Given the description of an element on the screen output the (x, y) to click on. 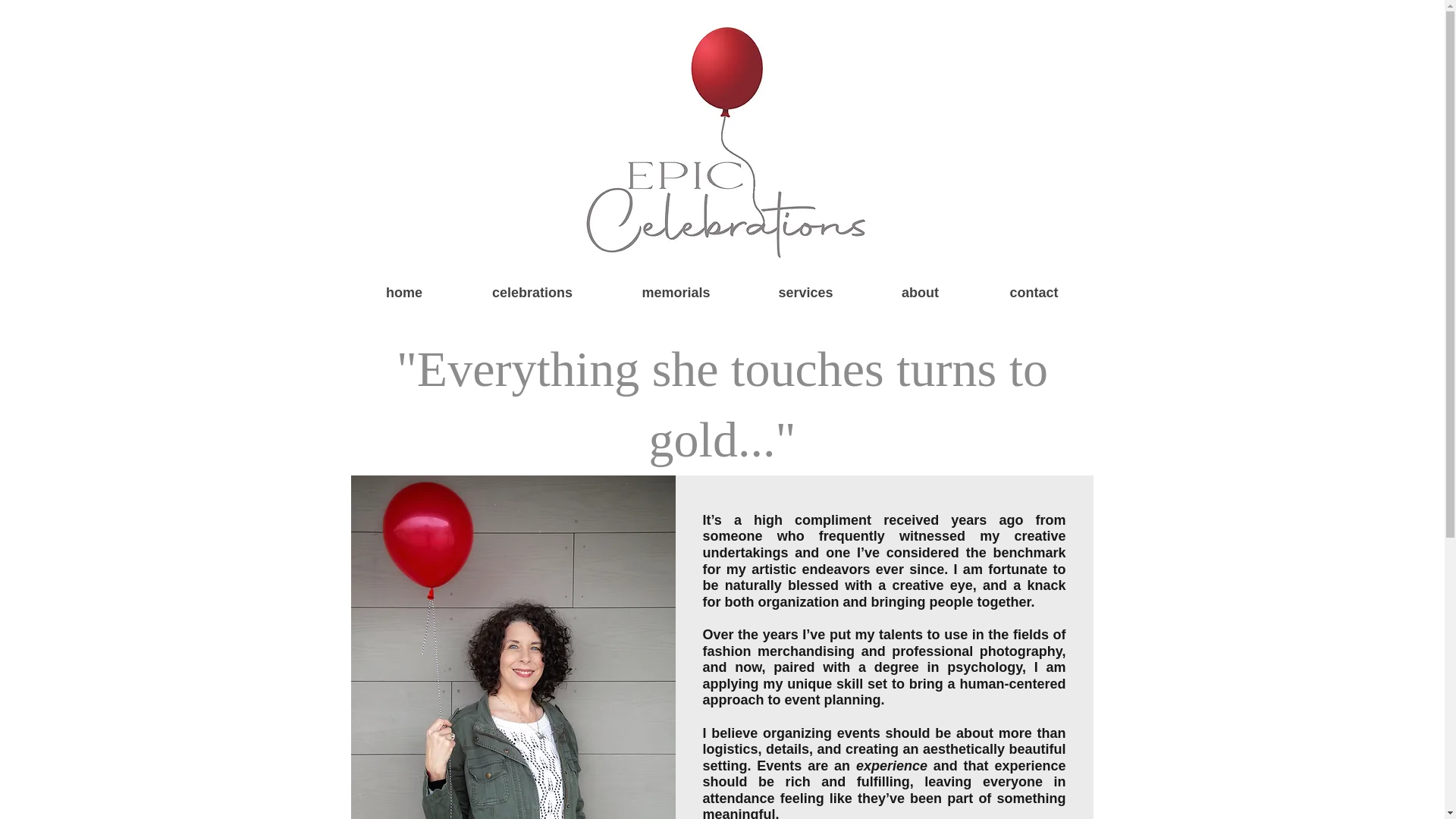
about (920, 292)
memorials (675, 292)
contact (1033, 292)
home (403, 292)
EC Logo 72 dpi.jpg (721, 140)
celebrations (532, 292)
services (805, 292)
